Given the description of an element on the screen output the (x, y) to click on. 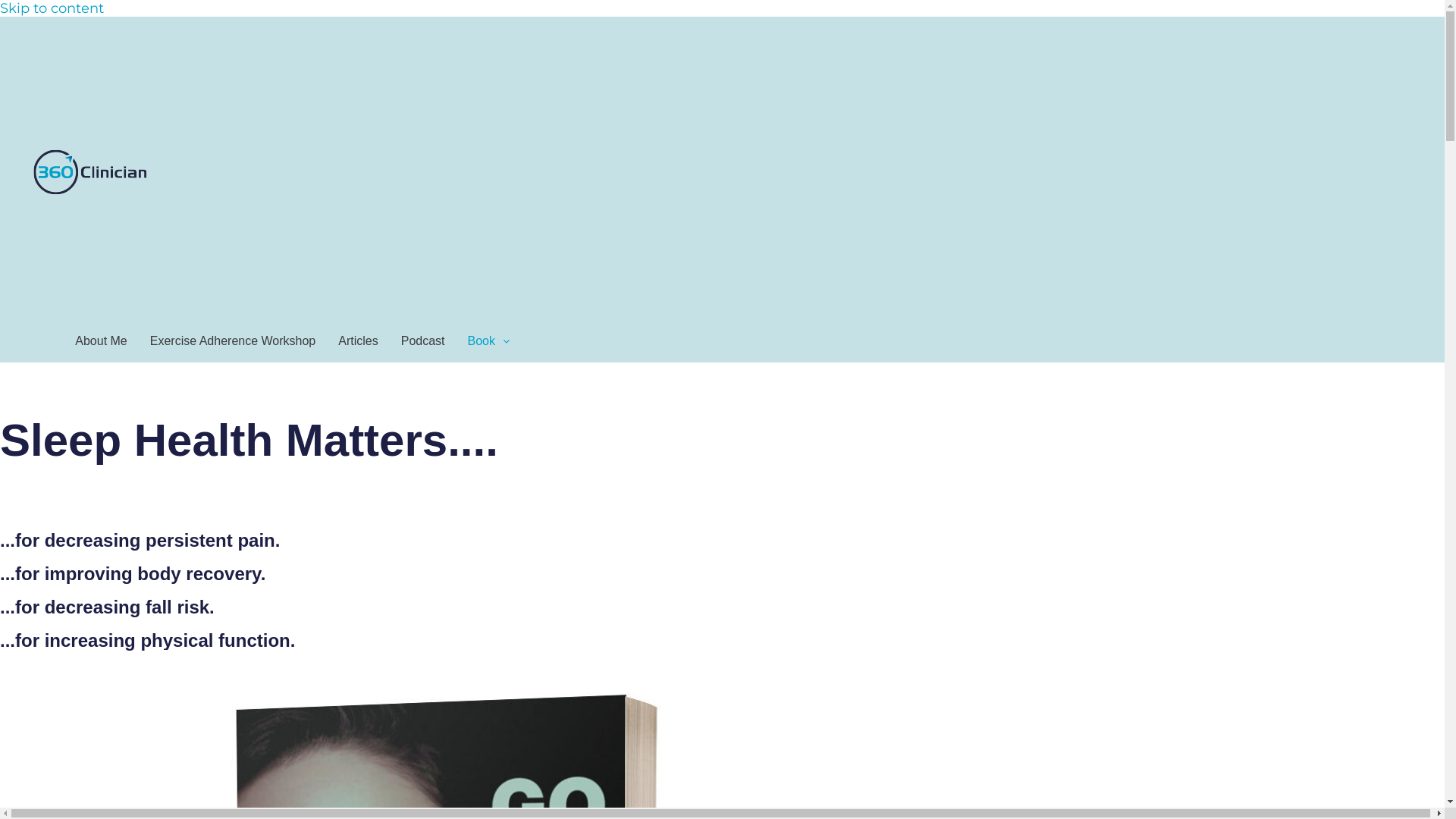
Skip to content Element type: text (51, 8)
Book Element type: text (488, 340)
Exercise Adherence Workshop Element type: text (232, 340)
Podcast Element type: text (422, 340)
Articles Element type: text (357, 340)
About Me Element type: text (100, 340)
